Given the description of an element on the screen output the (x, y) to click on. 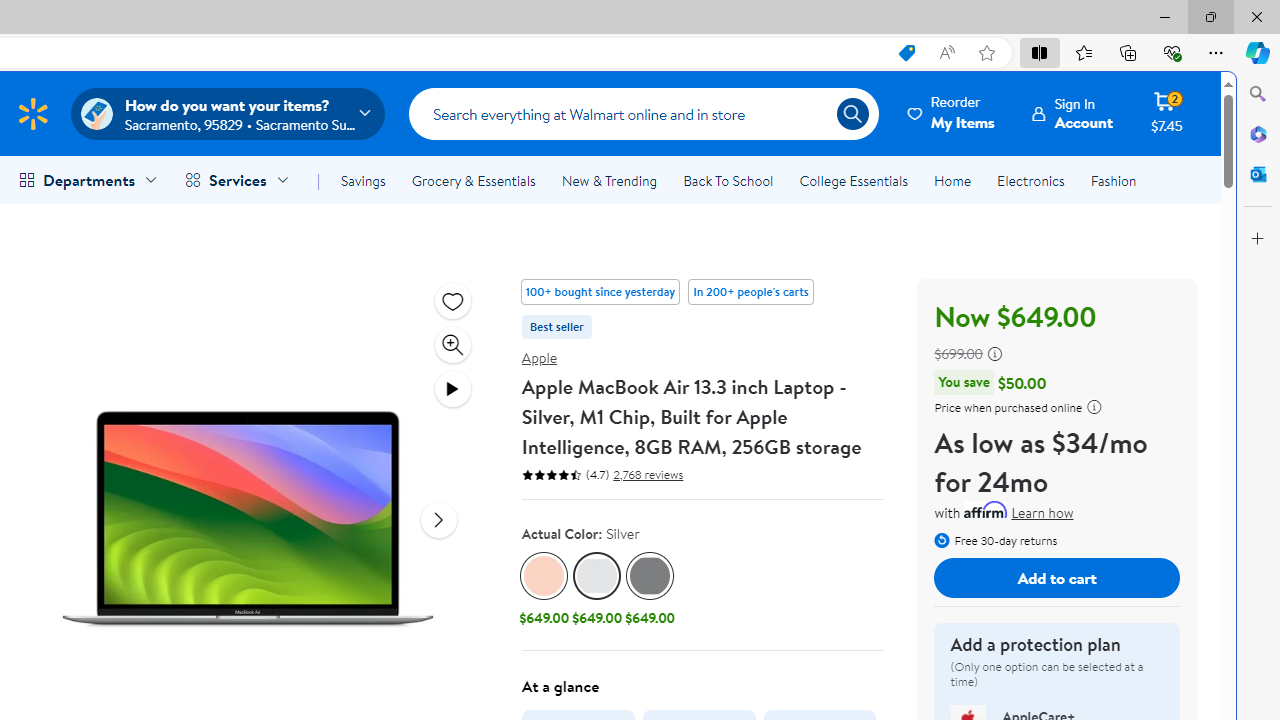
2,768 reviews (646, 474)
New & Trending (608, 180)
Space Gray, $649.00 (650, 591)
Gold, $649.00 (543, 591)
Reorder My Items (952, 113)
Silver selected, Silver, $649.00 (596, 591)
College Essentials (852, 180)
selected, Silver, $649.00 (596, 591)
Learn how (1042, 513)
Electronics (1030, 180)
